Given the description of an element on the screen output the (x, y) to click on. 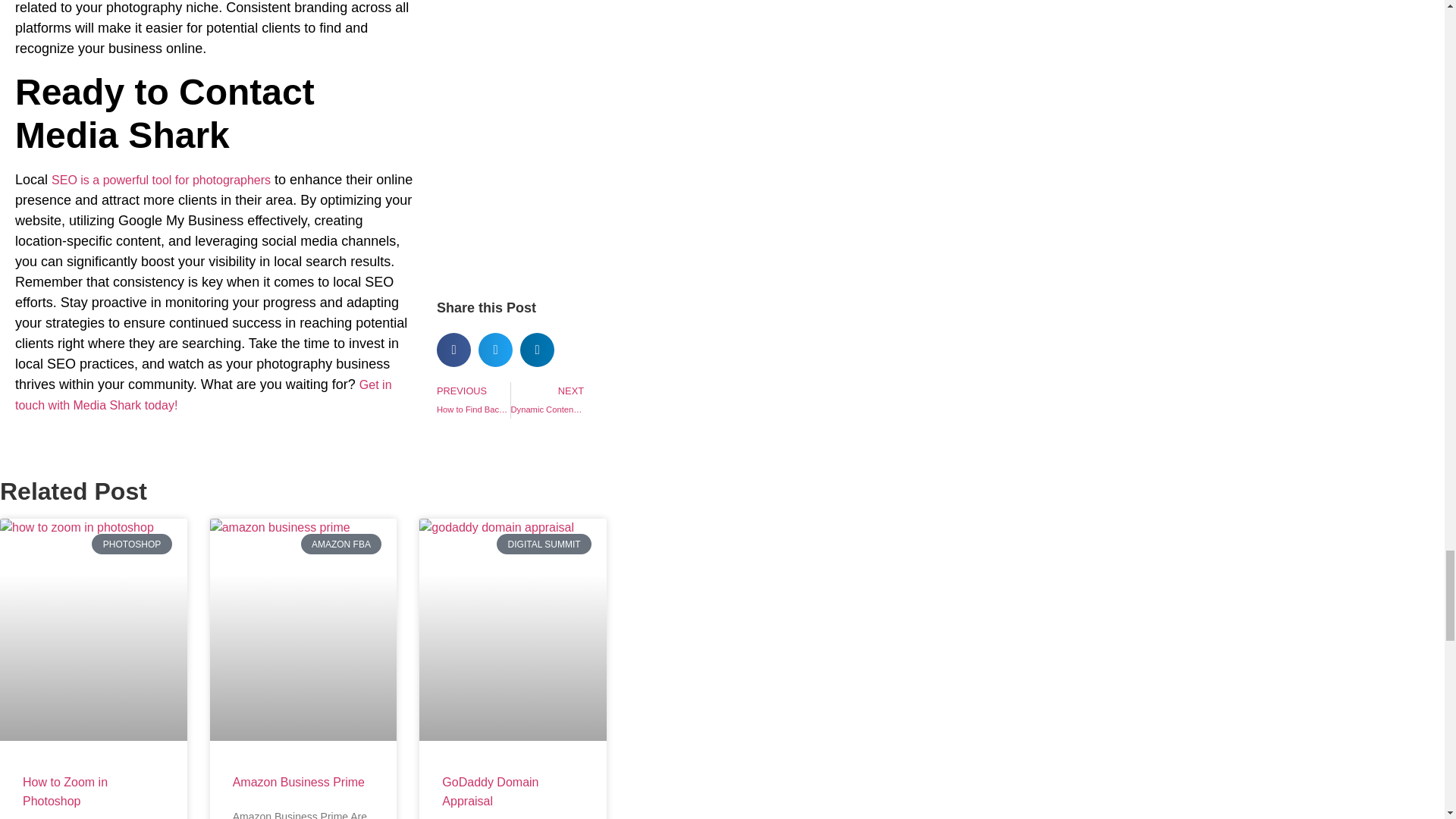
GoDaddy Domain Appraisal (490, 791)
Get in touch with Media Shark today! (202, 394)
SEO is a powerful tool for photographers (160, 179)
How to Zoom in Photoshop (548, 400)
Amazon Business Prime (473, 400)
